Given the description of an element on the screen output the (x, y) to click on. 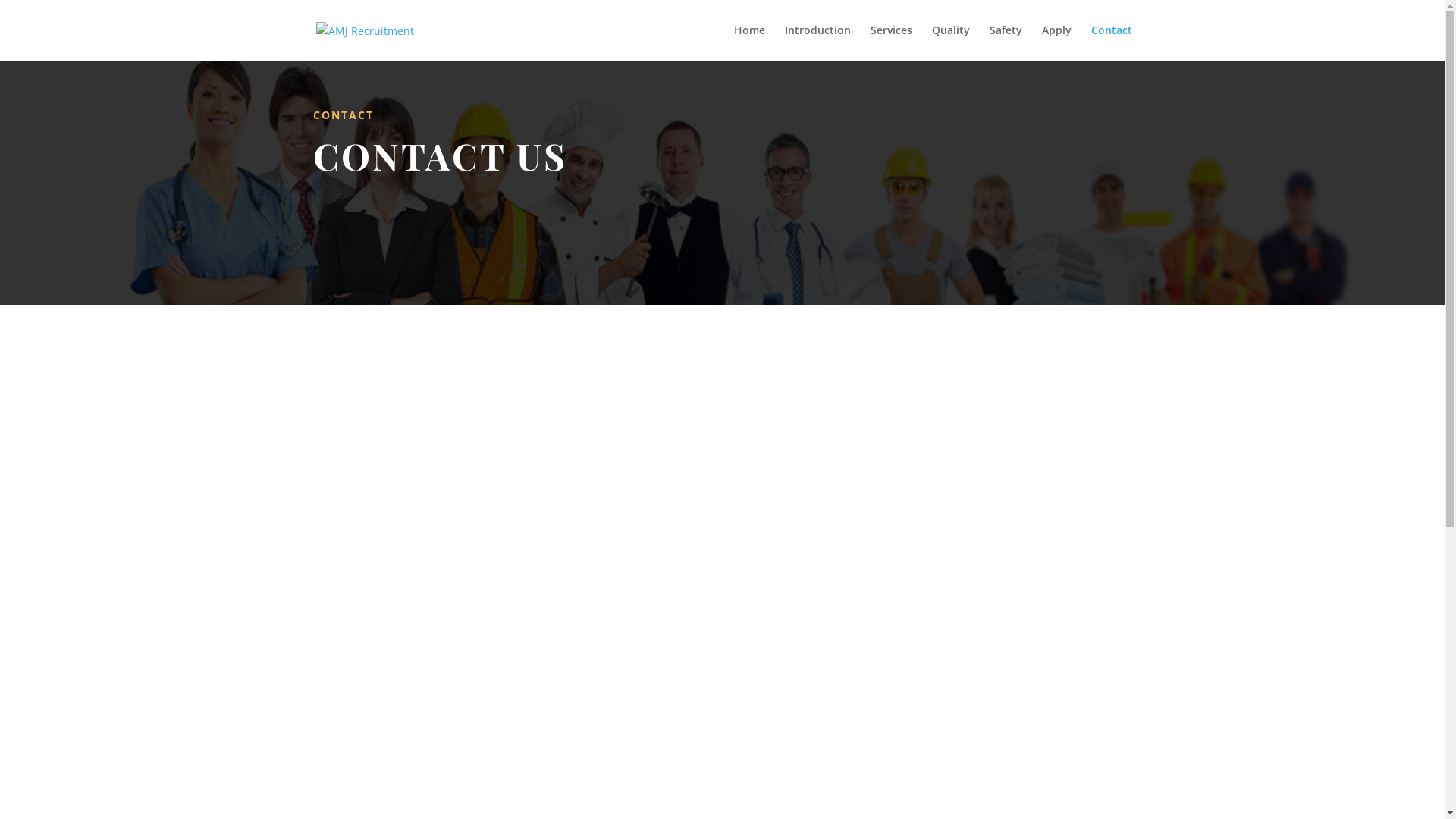
Safety Element type: text (1004, 42)
Contact Element type: text (1110, 42)
Apply Element type: text (1056, 42)
Introduction Element type: text (817, 42)
Home Element type: text (749, 42)
Services Element type: text (891, 42)
Quality Element type: text (950, 42)
